Given the description of an element on the screen output the (x, y) to click on. 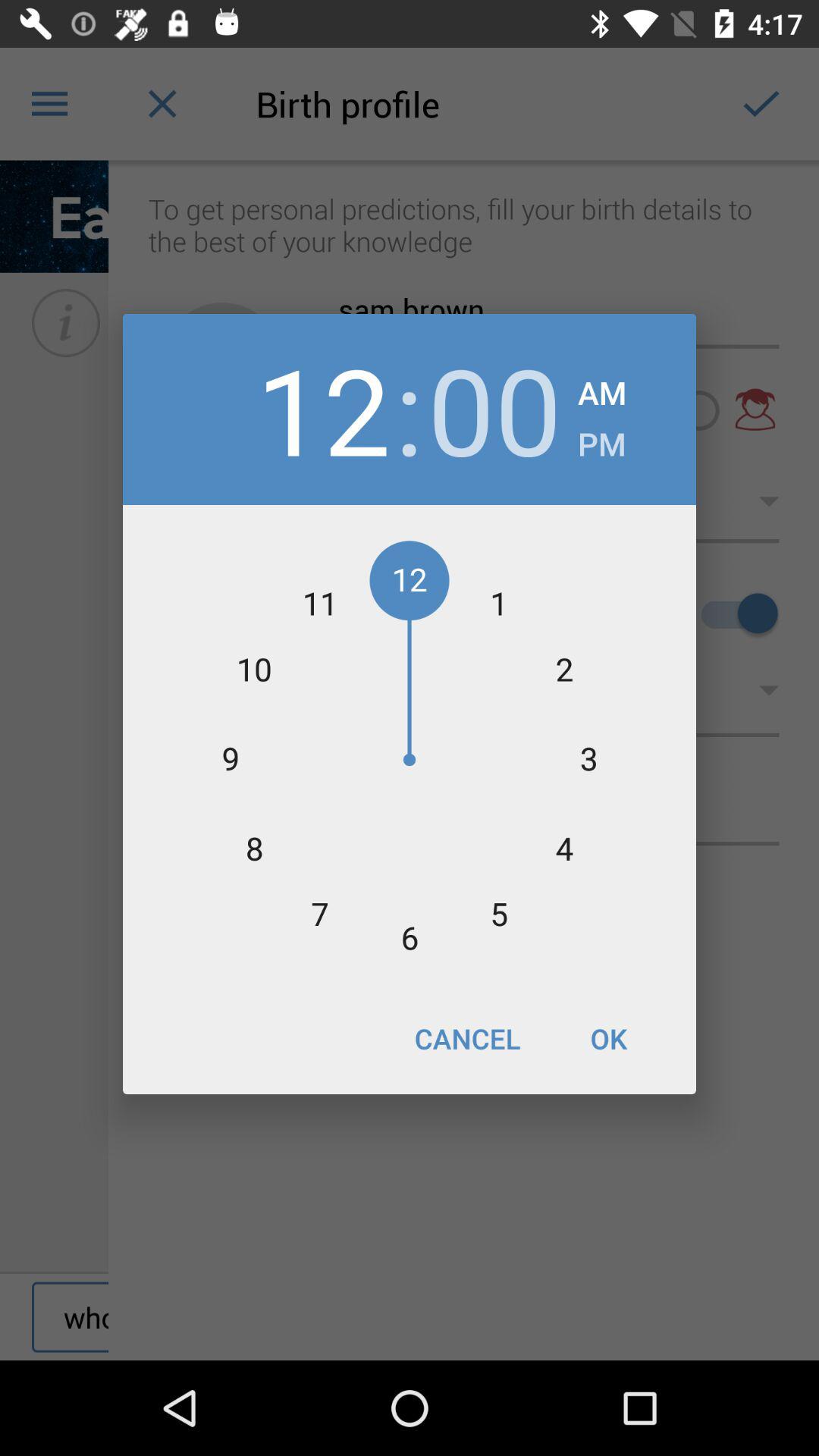
select the item above pm item (601, 388)
